Given the description of an element on the screen output the (x, y) to click on. 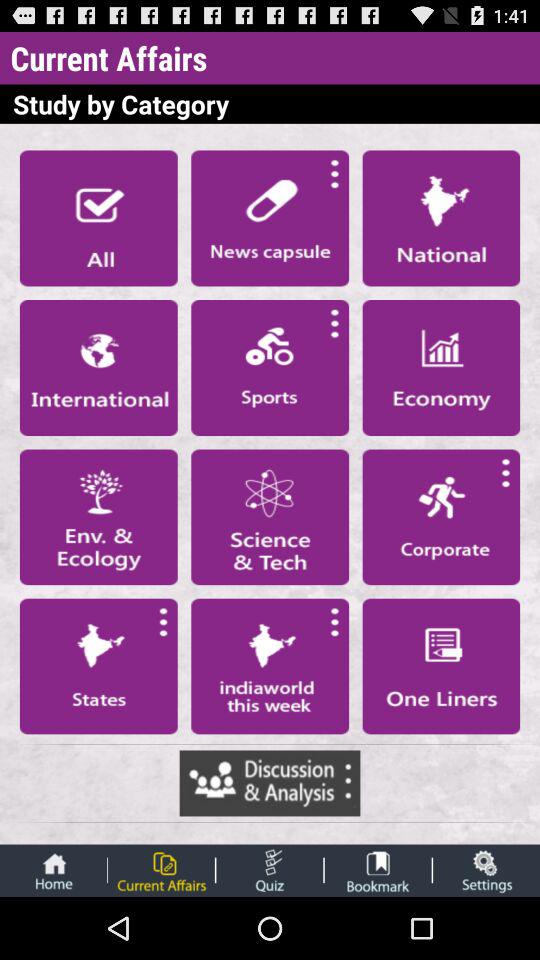
discussion analysis site (270, 783)
